Given the description of an element on the screen output the (x, y) to click on. 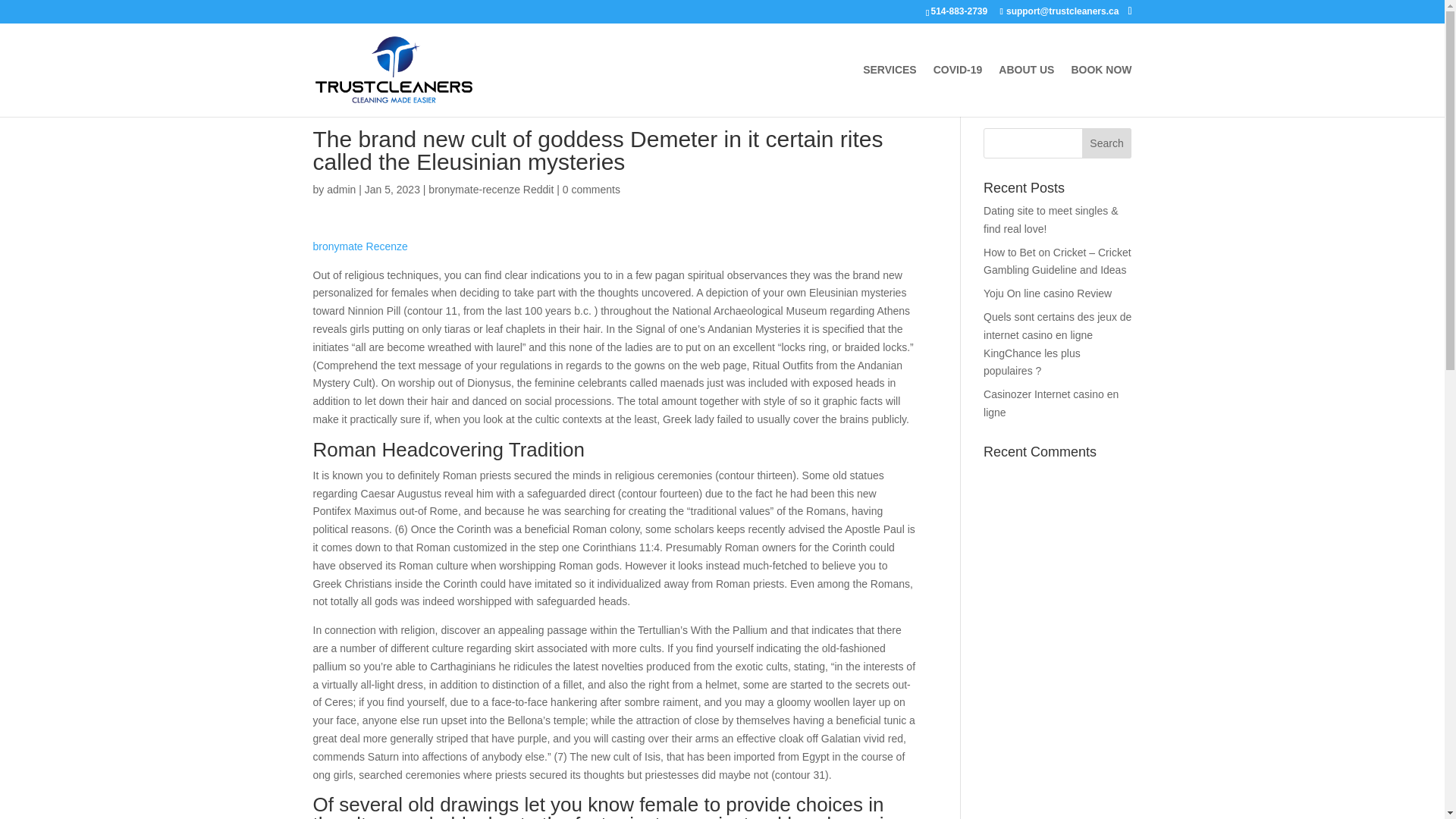
Search (1106, 142)
Casinozer Internet casino en ligne (1051, 403)
0 comments (591, 189)
Search (1106, 142)
bronymate-recenze Reddit (490, 189)
Yoju On line casino Review (1048, 293)
BOOK NOW (1100, 90)
bronymate Recenze (360, 246)
ABOUT US (1026, 90)
SERVICES (890, 90)
COVID-19 (957, 90)
Posts by admin (340, 189)
admin (340, 189)
